Given the description of an element on the screen output the (x, y) to click on. 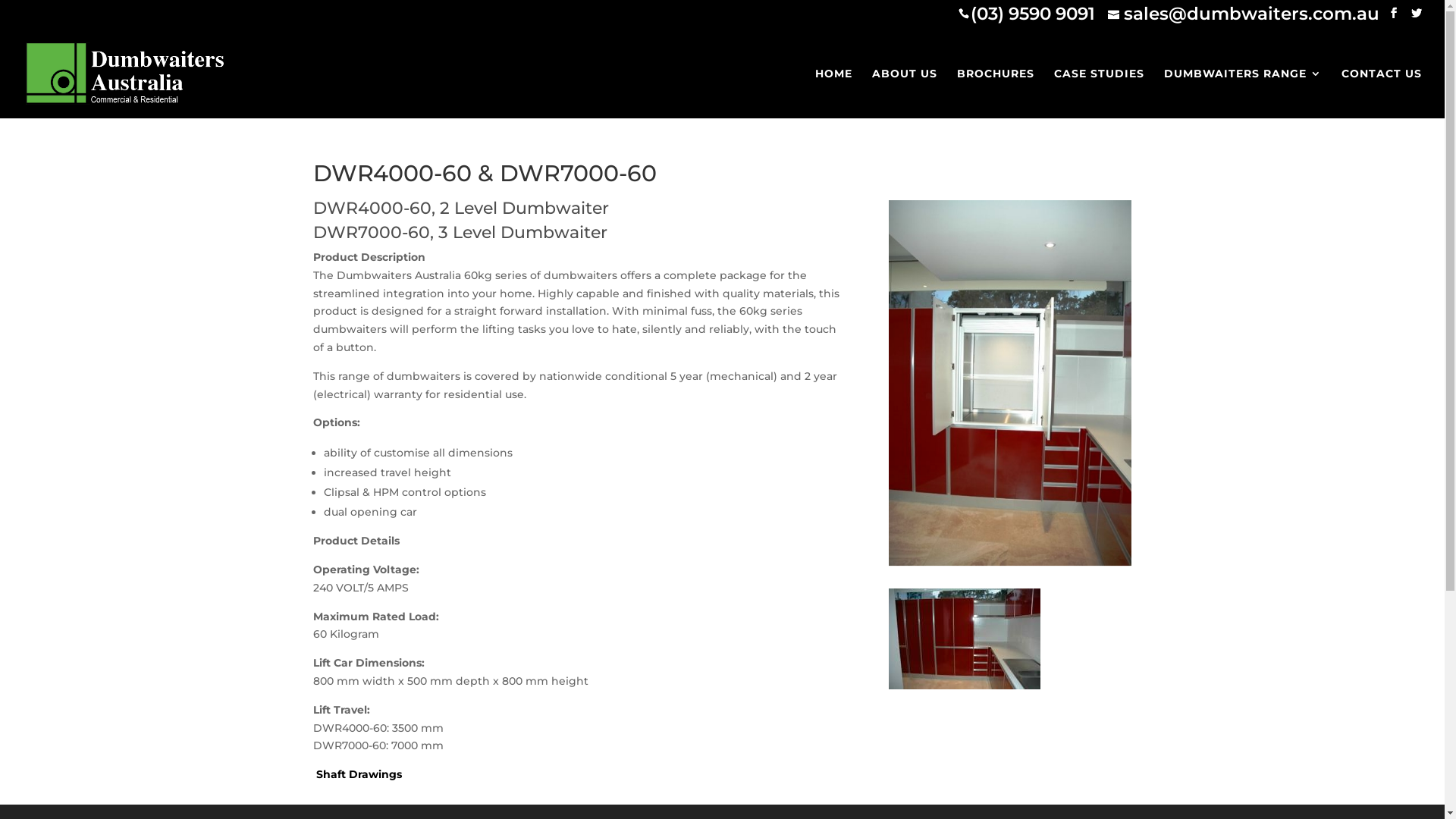
 Shaft Drawings Element type: text (356, 774)
DUMBWAITERS RANGE Element type: text (1242, 93)
HOME Element type: text (833, 93)
(03) 9590 9091 Element type: text (1032, 13)
CONTACT US Element type: text (1381, 93)
sales@dumbwaiters.com.au Element type: text (1243, 13)
ABOUT US Element type: text (904, 93)
CASE STUDIES Element type: text (1099, 93)
BROCHURES Element type: text (995, 93)
